Given the description of an element on the screen output the (x, y) to click on. 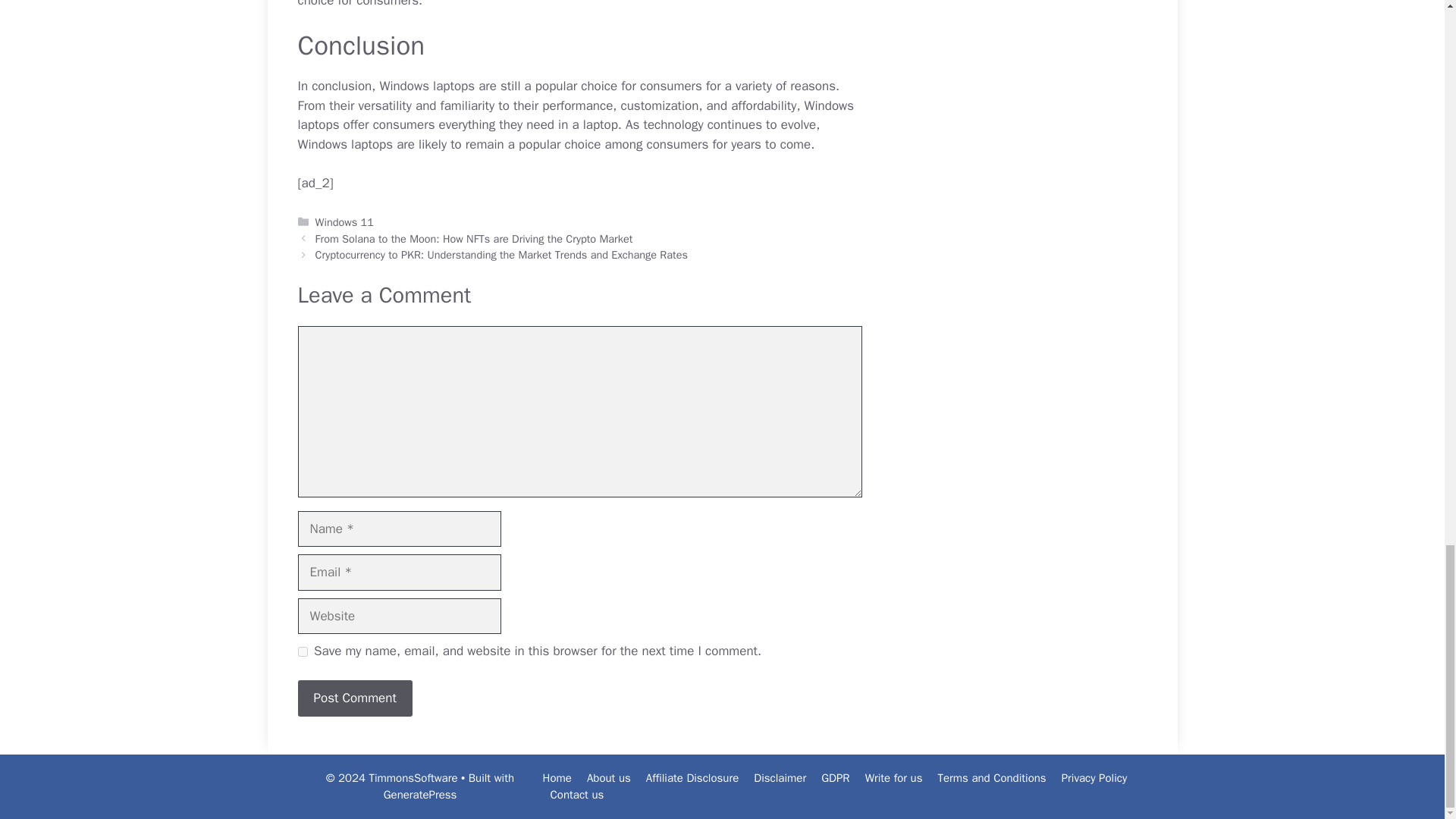
Windows 11 (344, 222)
Terms and Conditions (991, 777)
Contact us (577, 794)
Privacy Policy (1093, 777)
Home (557, 777)
Disclaimer (780, 777)
Affiliate Disclosure (692, 777)
yes (302, 651)
Write for us (893, 777)
